Given the description of an element on the screen output the (x, y) to click on. 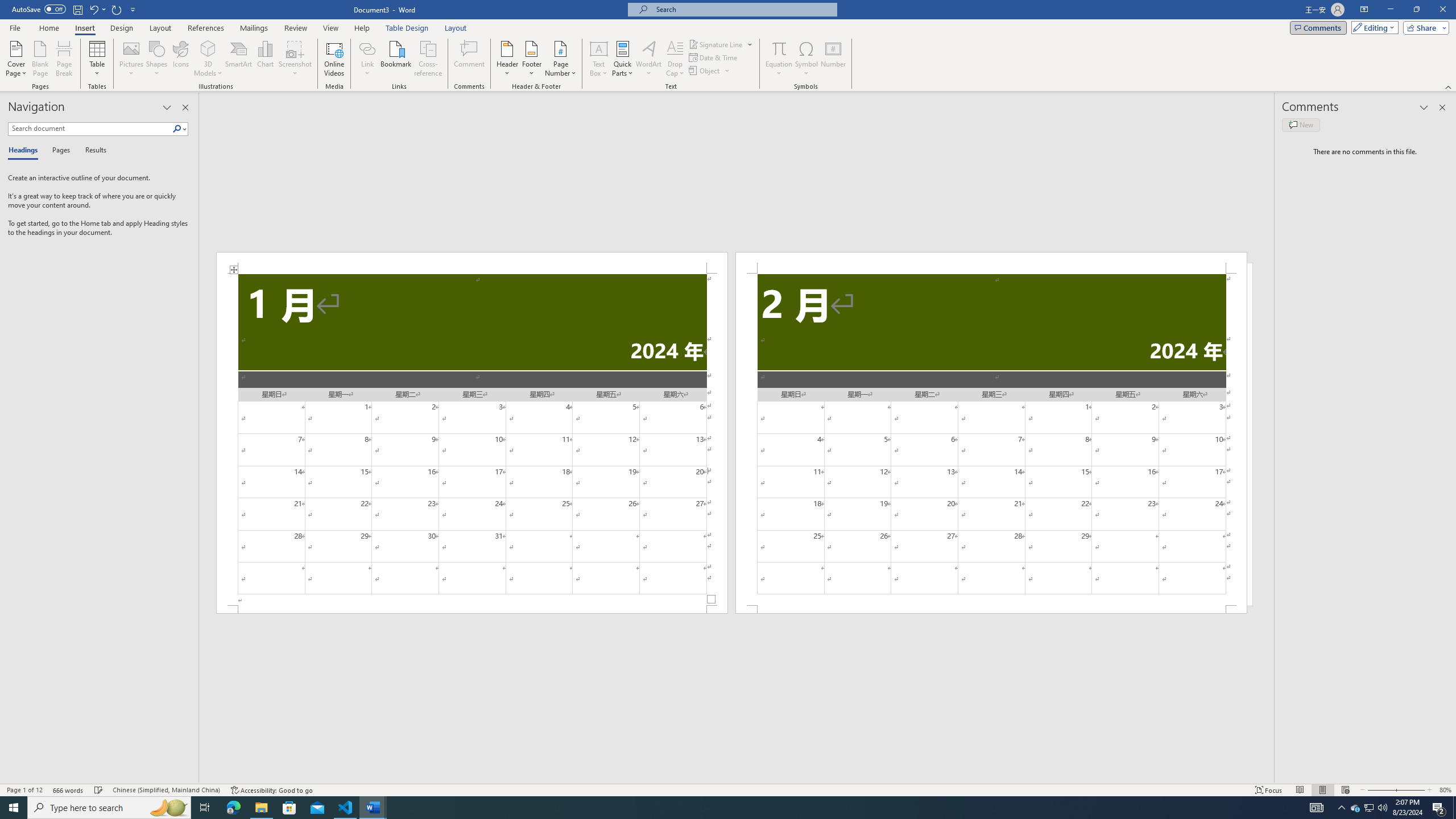
Word Count 666 words (68, 790)
Page 2 content (991, 439)
Cross-reference... (428, 58)
New comment (1300, 124)
Language Chinese (Simplified, Mainland China) (165, 790)
Footer -Section 2- (991, 609)
Cover Page (16, 58)
Header -Section 2- (991, 263)
Screenshot (295, 58)
Page Number (560, 58)
